Given the description of an element on the screen output the (x, y) to click on. 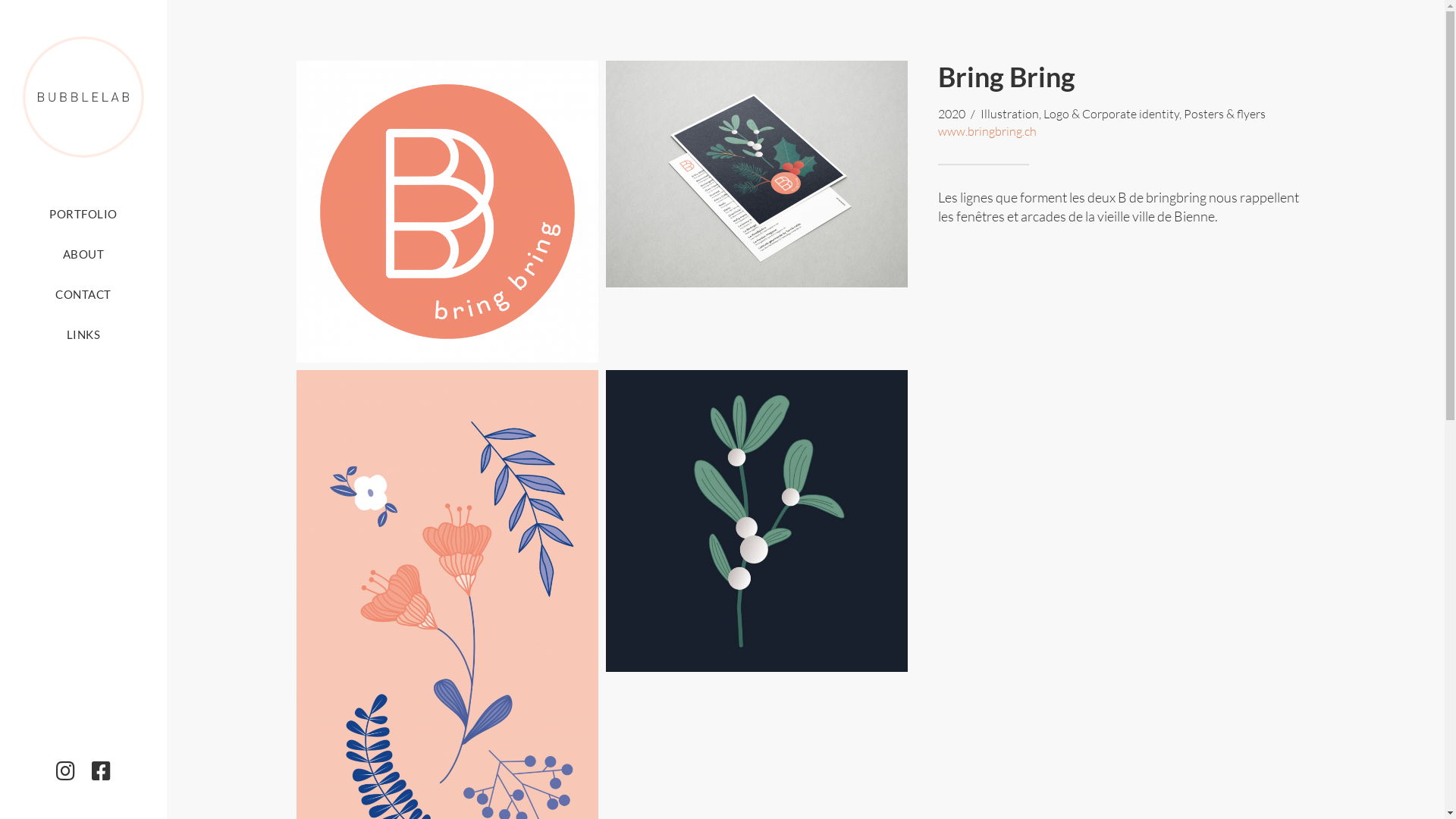
www.bringbring.ch Element type: text (987, 130)
ABOUT Element type: text (82, 253)
CONTACT Element type: text (82, 294)
PORTFOLIO Element type: text (82, 213)
Follow me on Instagram Element type: text (64, 770)
LINKS Element type: text (83, 334)
Follow me on Facebook Element type: text (101, 770)
